Given the description of an element on the screen output the (x, y) to click on. 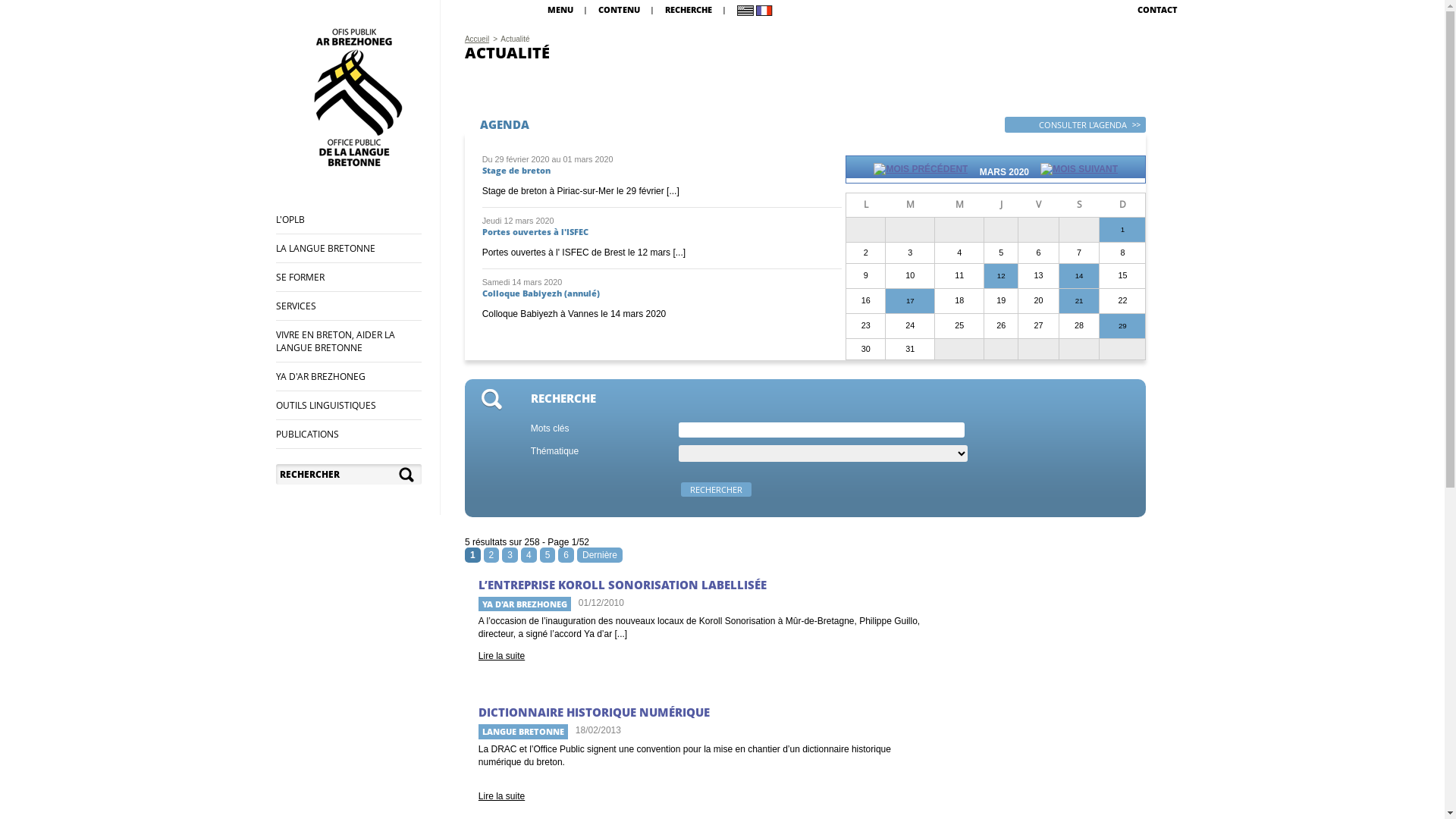
Rechercher Element type: text (715, 489)
CONTENU Element type: text (619, 9)
14 Element type: text (1079, 275)
4 Element type: text (528, 554)
21 Element type: text (1079, 300)
SE FORMER Element type: text (300, 276)
Stage de breton Element type: text (516, 169)
29 Element type: text (1122, 325)
VIVRE EN BRETON, AIDER LA LANGUE BRETONNE Element type: text (335, 341)
12 Element type: text (1000, 275)
Lire la suite Element type: text (501, 655)
L'OPLB Element type: text (290, 219)
OK Element type: text (407, 474)
MENU Element type: text (560, 9)
Lire la suite Element type: text (501, 795)
lancer la recherche Element type: hover (407, 474)
2 Element type: text (491, 554)
SERVICES Element type: text (296, 305)
CONTACT Element type: text (1157, 9)
5 Element type: text (547, 554)
OUTILS LINGUISTIQUES Element type: text (326, 404)
RECHERCHE Element type: text (688, 9)
YA D'AR BREZHONEG Element type: text (320, 376)
1 Element type: text (1122, 229)
CONSULTER L'AGENDA Element type: text (1074, 124)
Accueil Element type: text (476, 38)
3 Element type: text (509, 554)
LA LANGUE BRETONNE Element type: text (325, 247)
PUBLICATIONS Element type: text (307, 433)
6 Element type: text (565, 554)
Mois suivant Element type: hover (1078, 171)
17 Element type: text (909, 300)
